Given the description of an element on the screen output the (x, y) to click on. 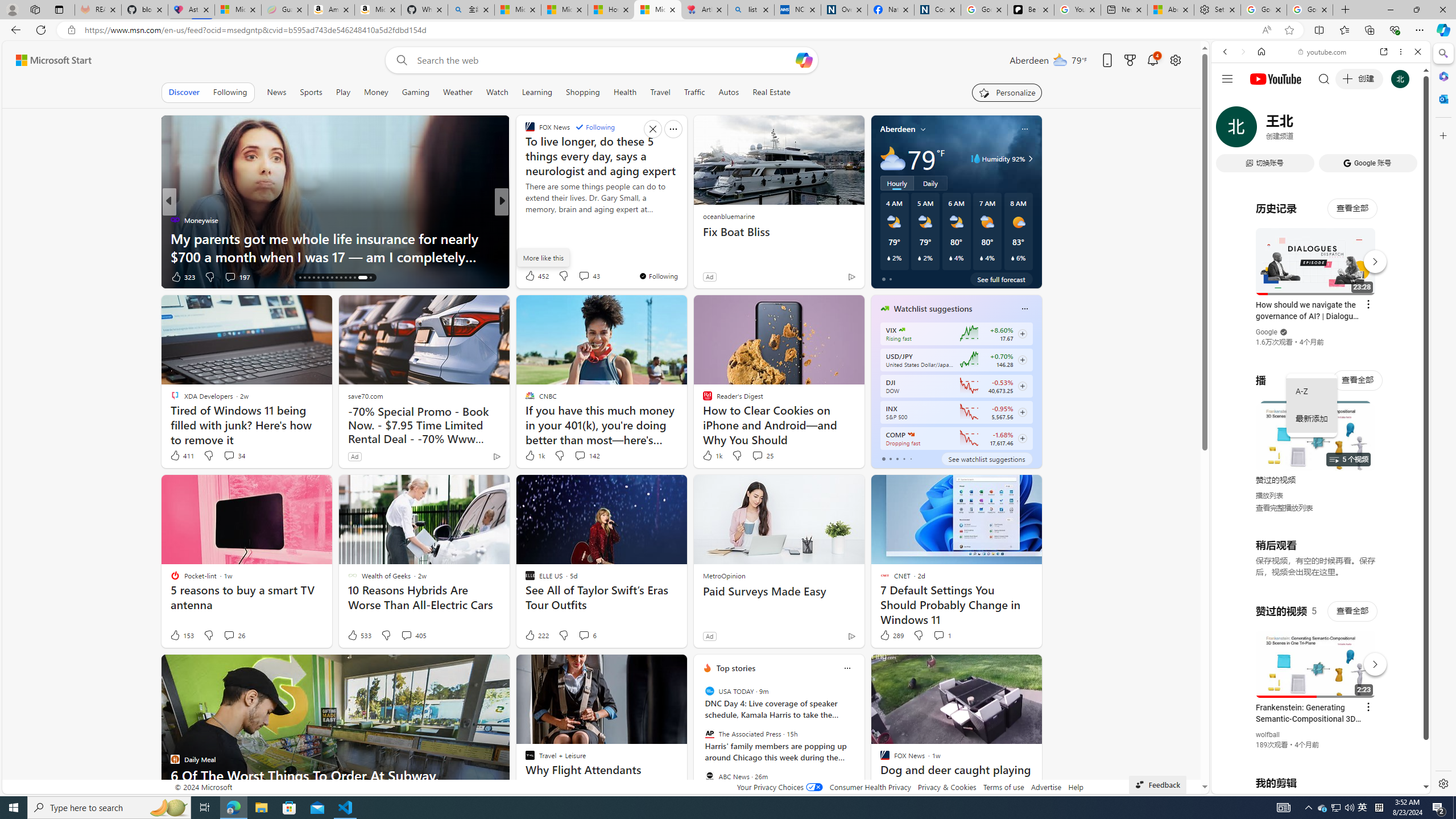
Class: follow-button  m (1021, 438)
NCL Adult Asthma Inhaler Choice Guideline (797, 9)
Top stories (735, 668)
Shopping (582, 92)
AutomationID: tab-25 (340, 277)
